Given the description of an element on the screen output the (x, y) to click on. 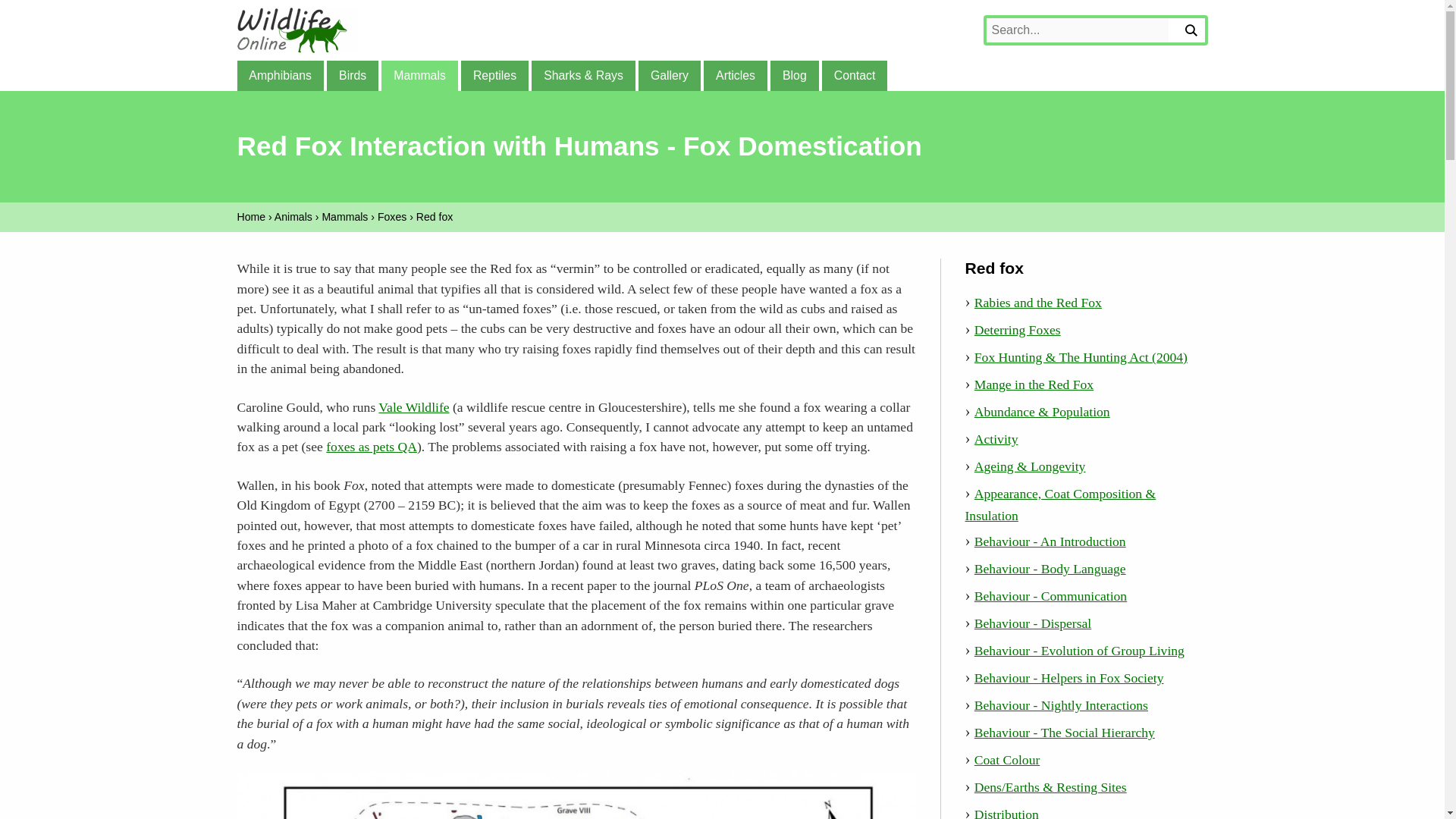
Blog (794, 75)
Behaviour - Communication (1050, 595)
Deterring Foxes (1017, 329)
Amphibians (279, 75)
Behaviour - Body Language (1049, 568)
Articles (735, 75)
Behaviour - Dispersal (1032, 622)
Reptiles (494, 75)
Red fox (434, 216)
Contact (854, 75)
